Given the description of an element on the screen output the (x, y) to click on. 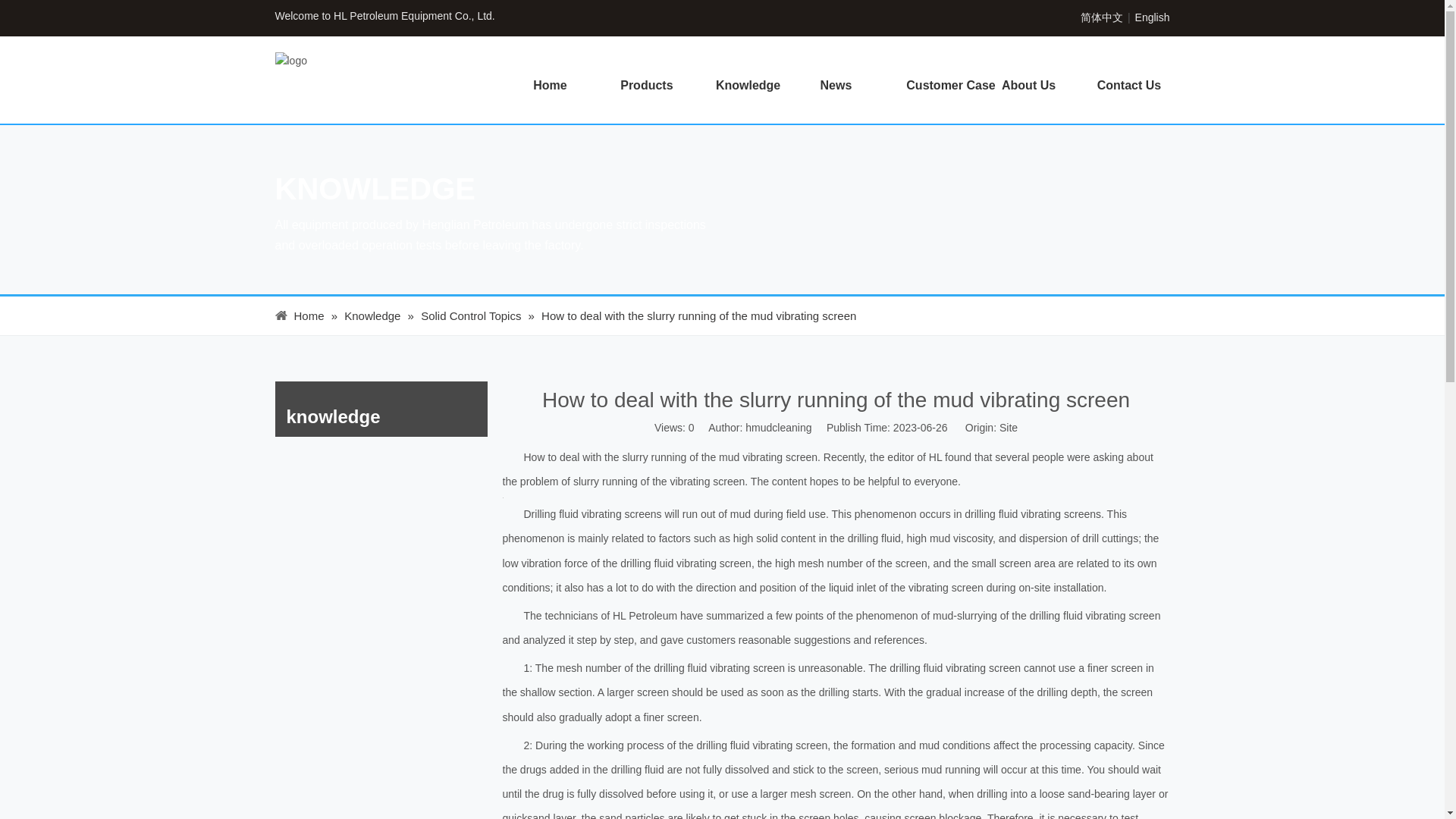
Home (549, 85)
Products (644, 85)
English (1152, 18)
